Given the description of an element on the screen output the (x, y) to click on. 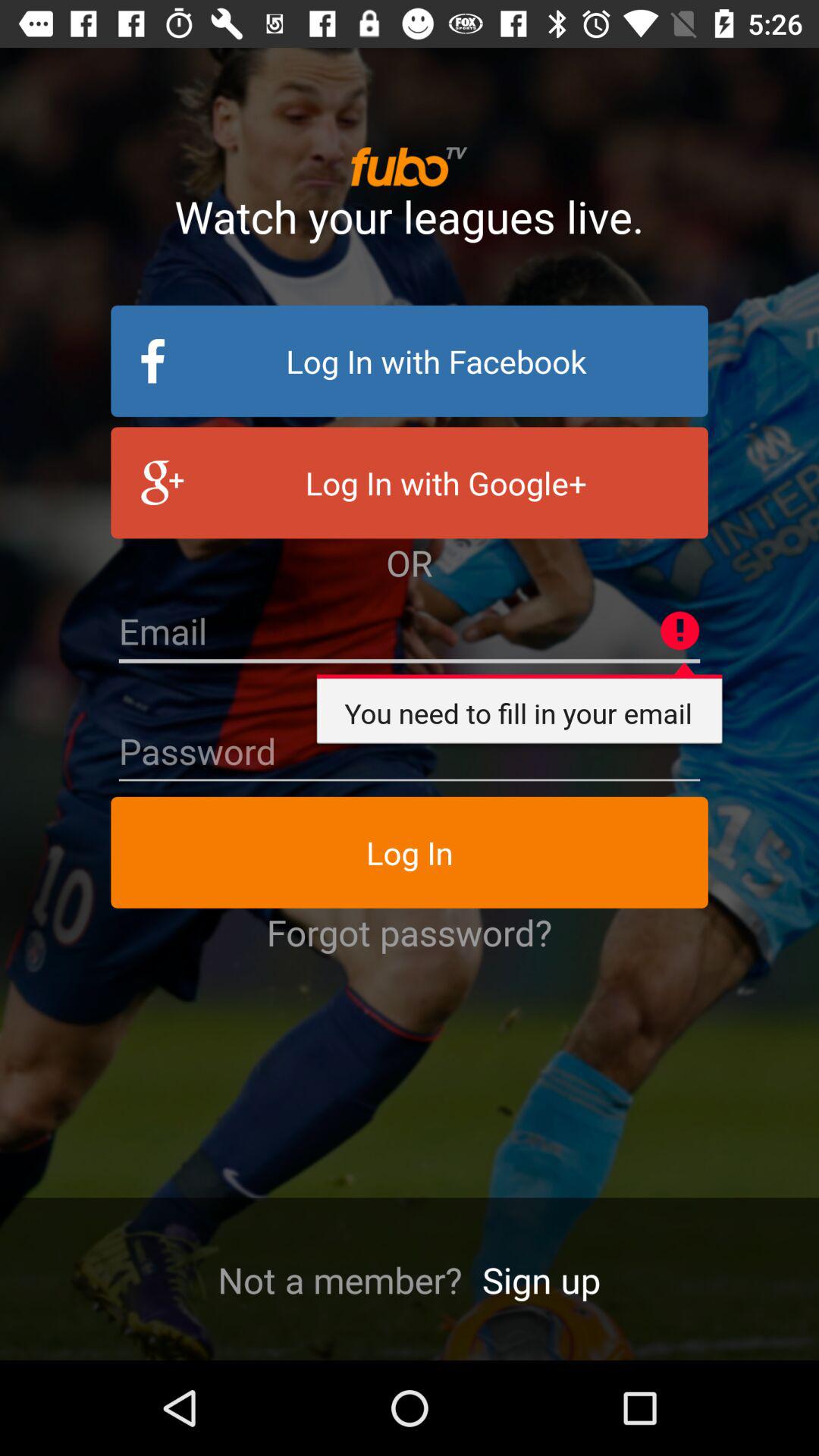
jump until the forgot password? (409, 932)
